Given the description of an element on the screen output the (x, y) to click on. 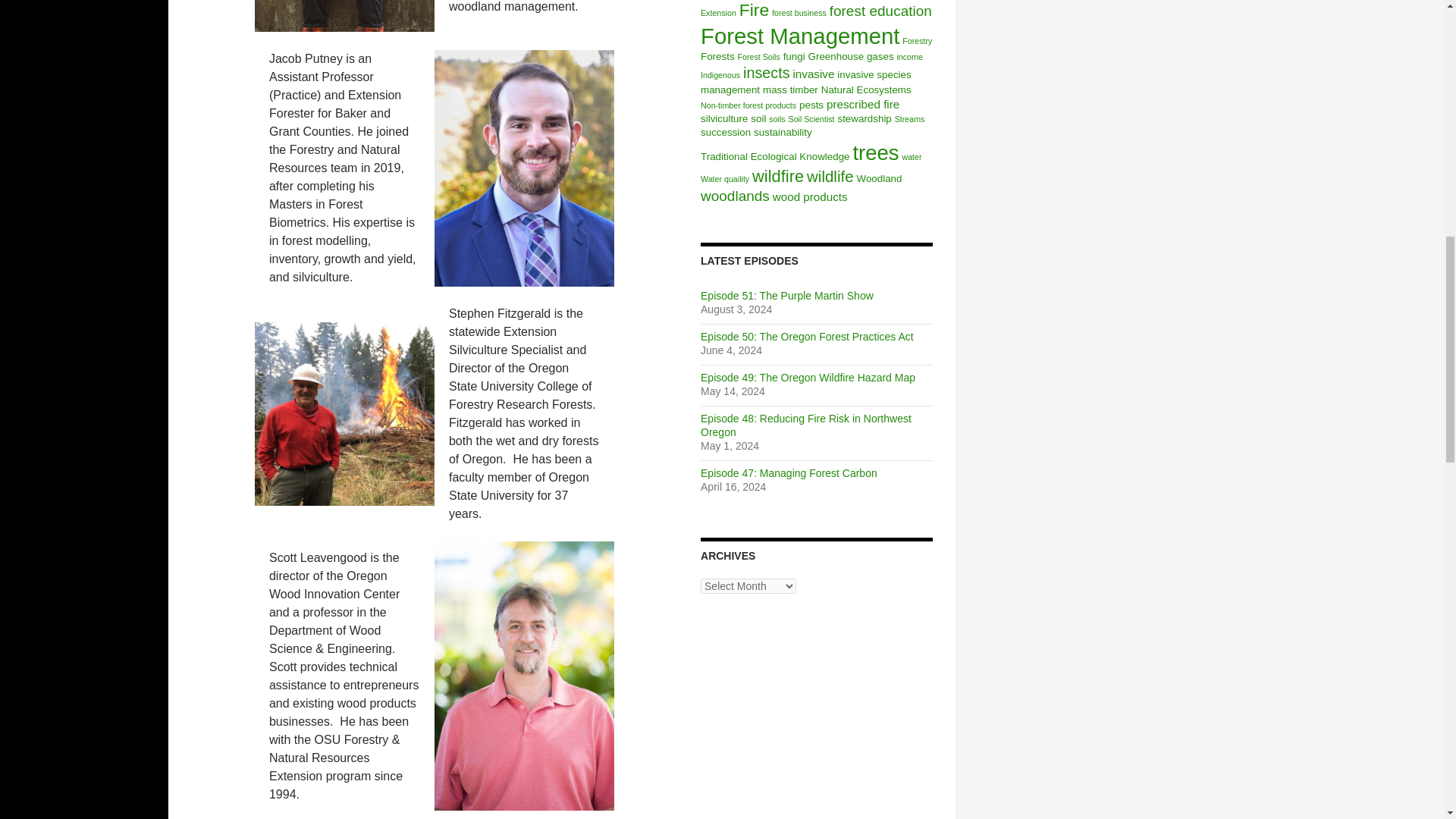
insects (766, 72)
Forest Soils (757, 56)
Forests (717, 56)
Indigenous (719, 74)
Forestry (916, 40)
Fire (754, 9)
invasive (813, 73)
invasive species (874, 74)
forest education (880, 10)
Forest Management (799, 35)
income (908, 56)
fungi (794, 56)
Greenhouse gases (850, 56)
management (730, 89)
Extension (718, 12)
